Given the description of an element on the screen output the (x, y) to click on. 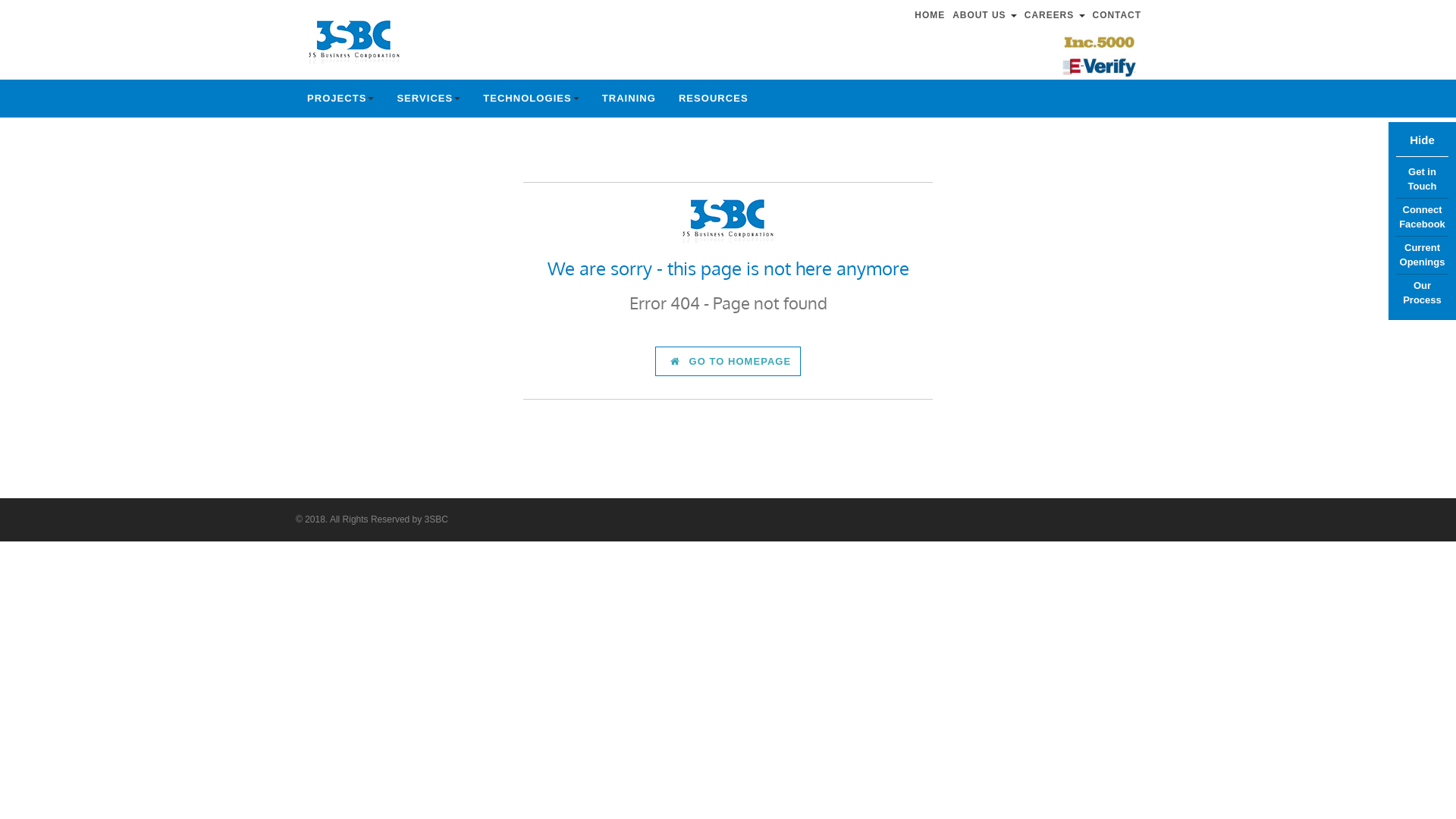
Get in Touch Element type: text (1422, 179)
TECHNOLOGIES Element type: text (530, 98)
Connect Facebook Element type: text (1422, 217)
TRAINING Element type: text (628, 98)
Our Process Element type: text (1422, 292)
GO TO HOMEPAGE Element type: text (727, 361)
HOME Element type: text (933, 15)
SERVICES Element type: text (428, 98)
3sbc-logo Element type: text (353, 39)
CAREERS Element type: text (1058, 15)
Current Openings Element type: text (1422, 255)
RESOURCES Element type: text (713, 98)
PROJECTS Element type: text (340, 98)
ABOUT US Element type: text (988, 15)
CONTACT Element type: text (1120, 15)
